Given the description of an element on the screen output the (x, y) to click on. 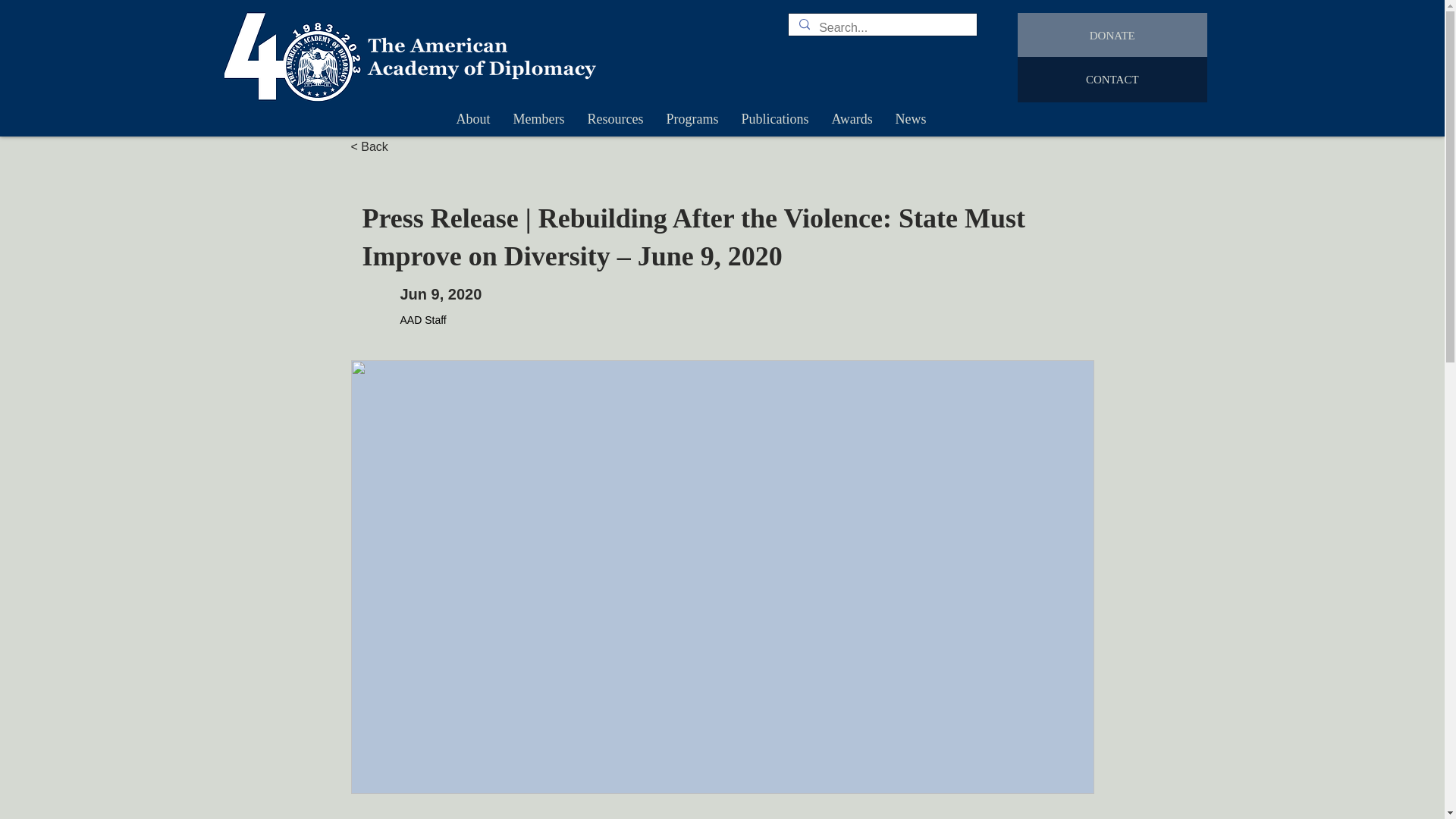
Awards (852, 118)
Publications (774, 118)
Resources (615, 118)
Members (539, 118)
Programs (692, 118)
DONATE (1112, 35)
CONTACT (1112, 79)
About (472, 118)
